Given the description of an element on the screen output the (x, y) to click on. 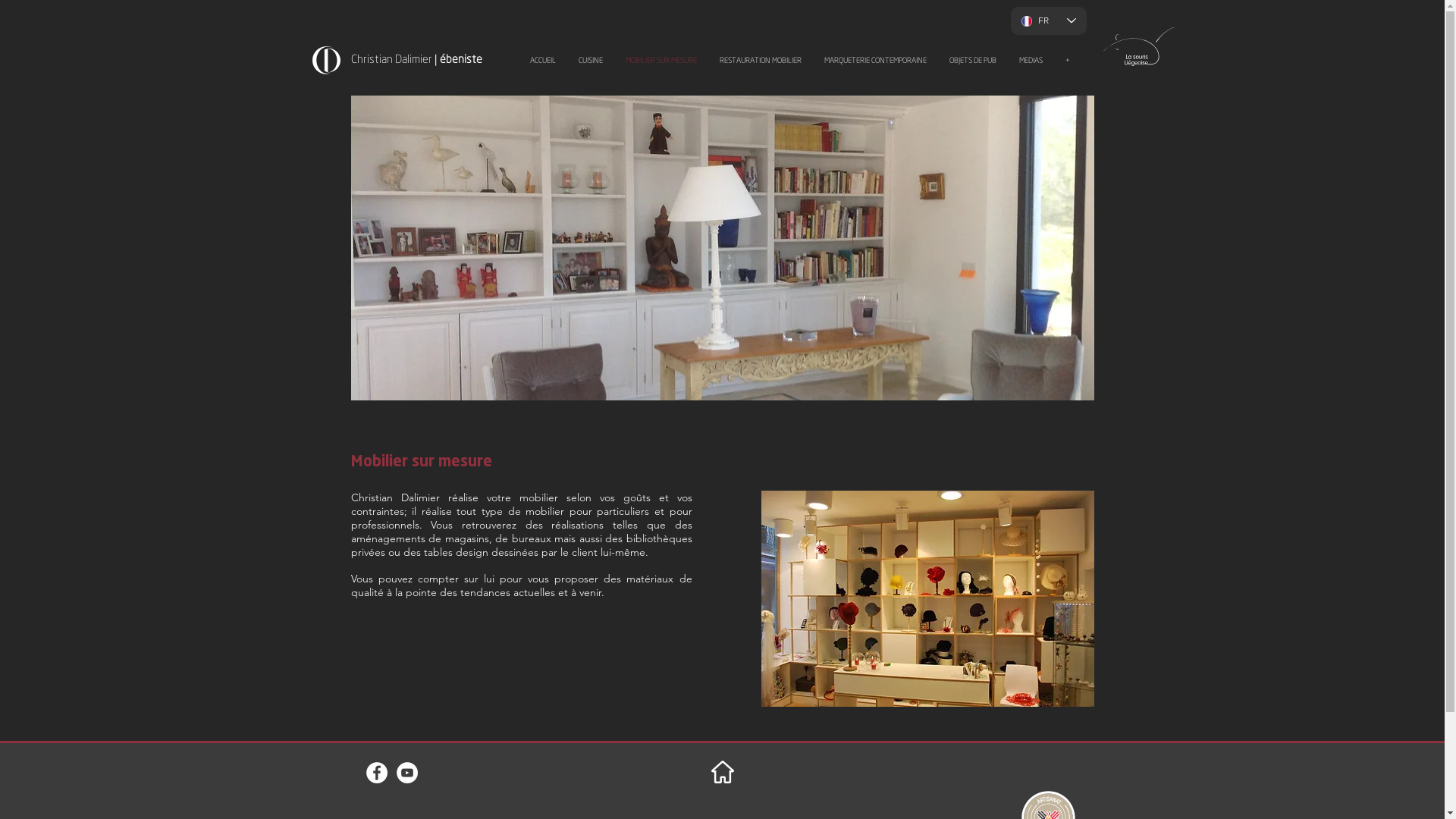
CUISINE Element type: text (590, 60)
MOBILIER SUR MESURE Element type: text (661, 60)
MEDIAS Element type: text (1030, 60)
MARQUETERIE CONTEMPORAINE Element type: text (875, 60)
RESTAURATION MOBILIER Element type: text (760, 60)
ACCUEIL Element type: text (542, 60)
Christian Dalimier Element type: text (391, 58)
OBJETS DE PUB Element type: text (972, 60)
